Given the description of an element on the screen output the (x, y) to click on. 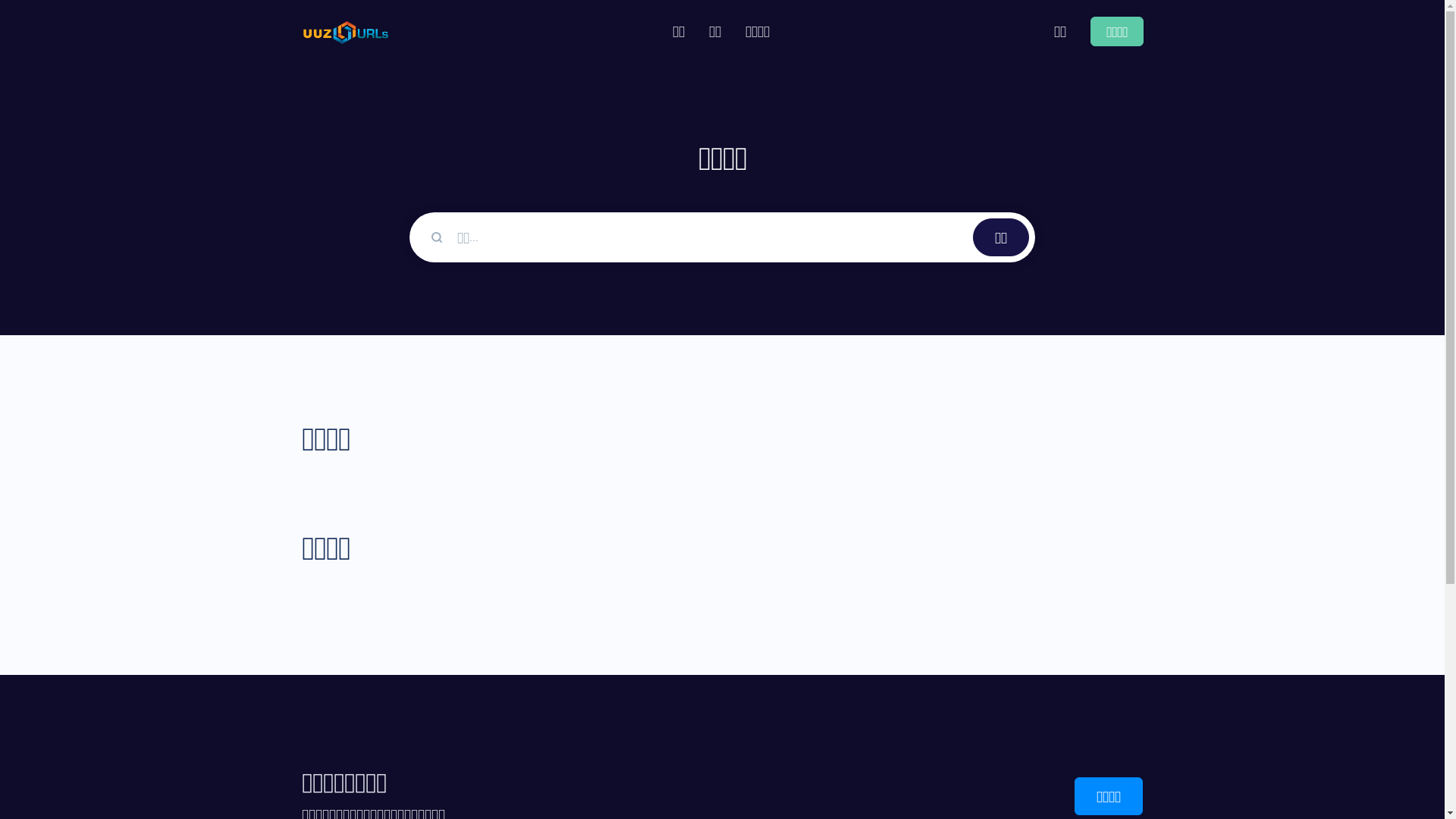
UUZ.CC - URL Shortener & Bio Pages & QR Codes Element type: hover (345, 31)
